Given the description of an element on the screen output the (x, y) to click on. 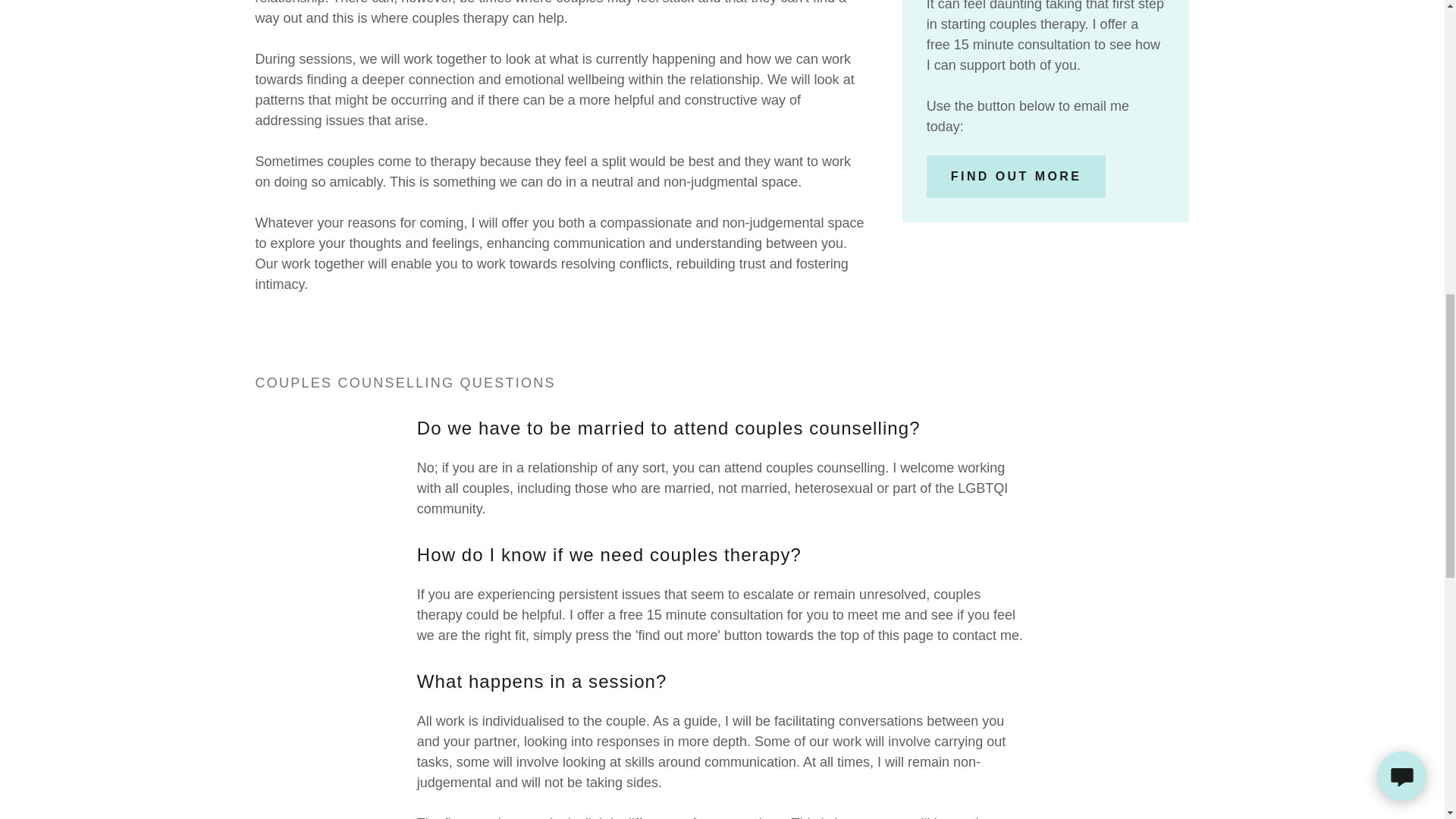
DECLINE (1203, 324)
FIND OUT MORE (1016, 176)
ACCEPT (1345, 324)
